Given the description of an element on the screen output the (x, y) to click on. 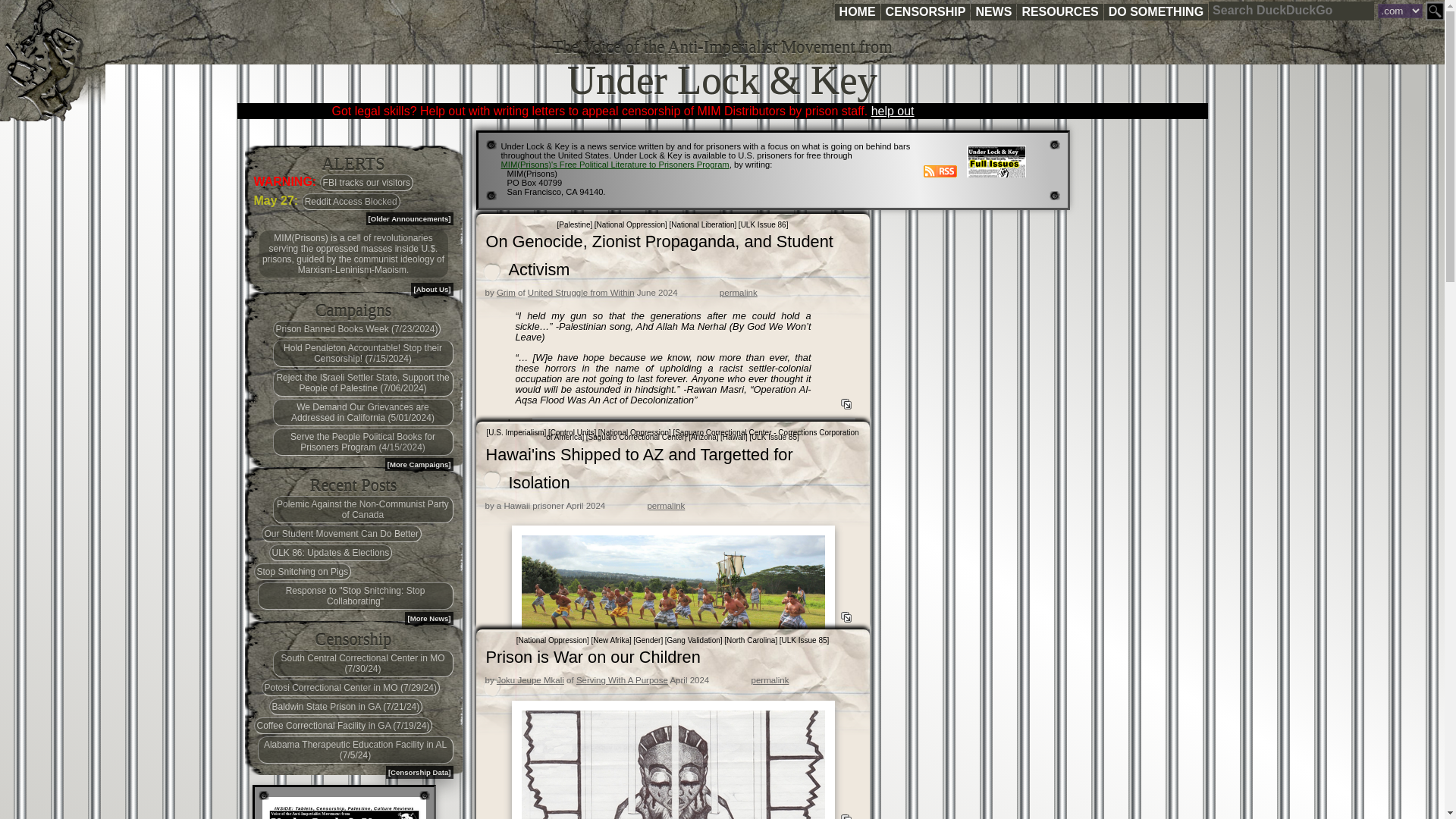
DO SOMETHING (1155, 12)
FBI tracks our visitors (366, 182)
RESOURCES (1059, 12)
Stop Snitching on Pigs (301, 571)
help out (892, 110)
CENSORSHIP (925, 12)
Response to "Stop Snitching: Stop Collaborating" (354, 595)
Polemic Against the Non-Communist Party of Canada (362, 509)
Our Student Movement Can Do Better (340, 533)
NEWS (993, 12)
